Given the description of an element on the screen output the (x, y) to click on. 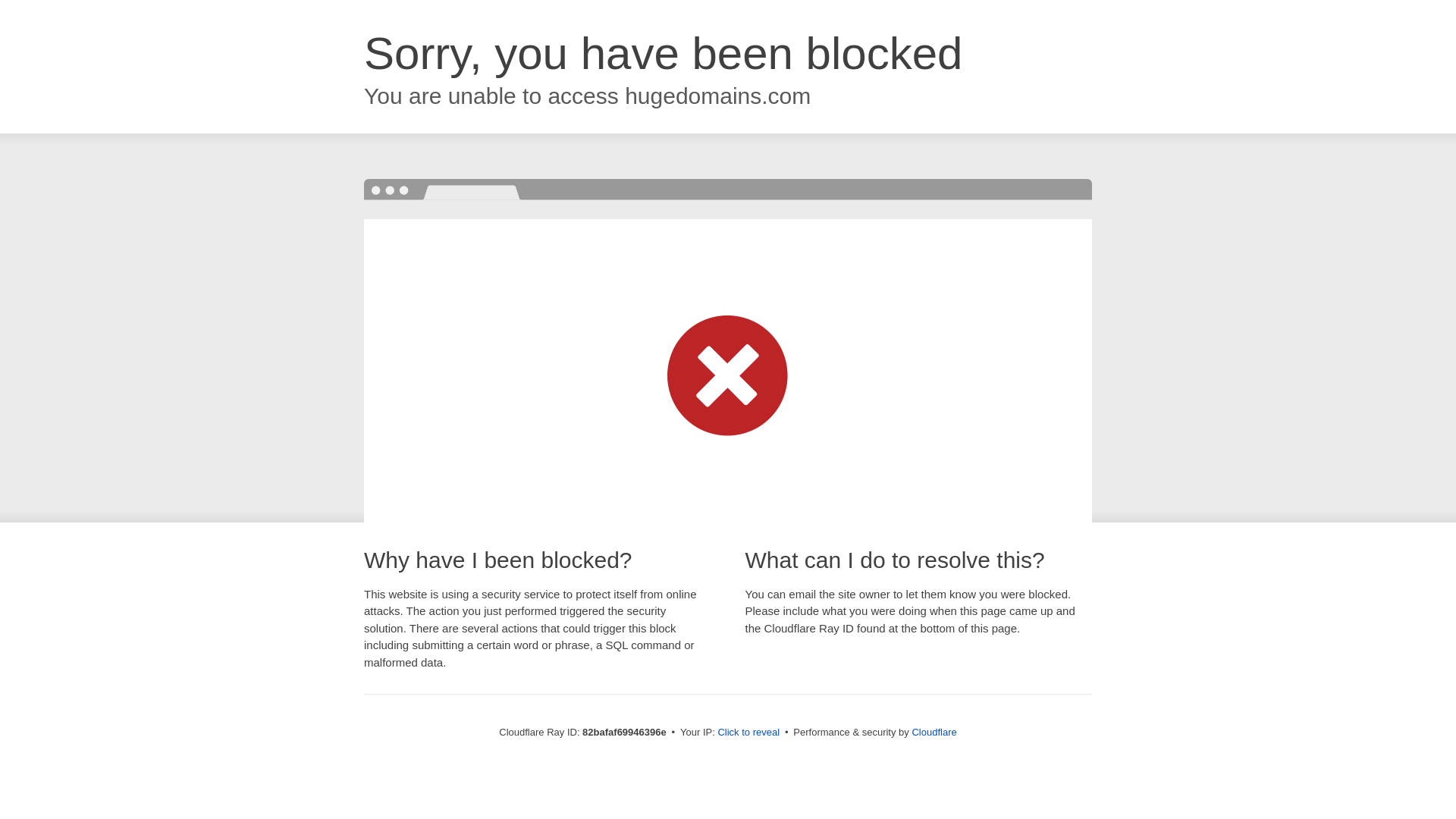
Click to reveal Element type: text (748, 732)
Cloudflare Element type: text (933, 731)
